Given the description of an element on the screen output the (x, y) to click on. 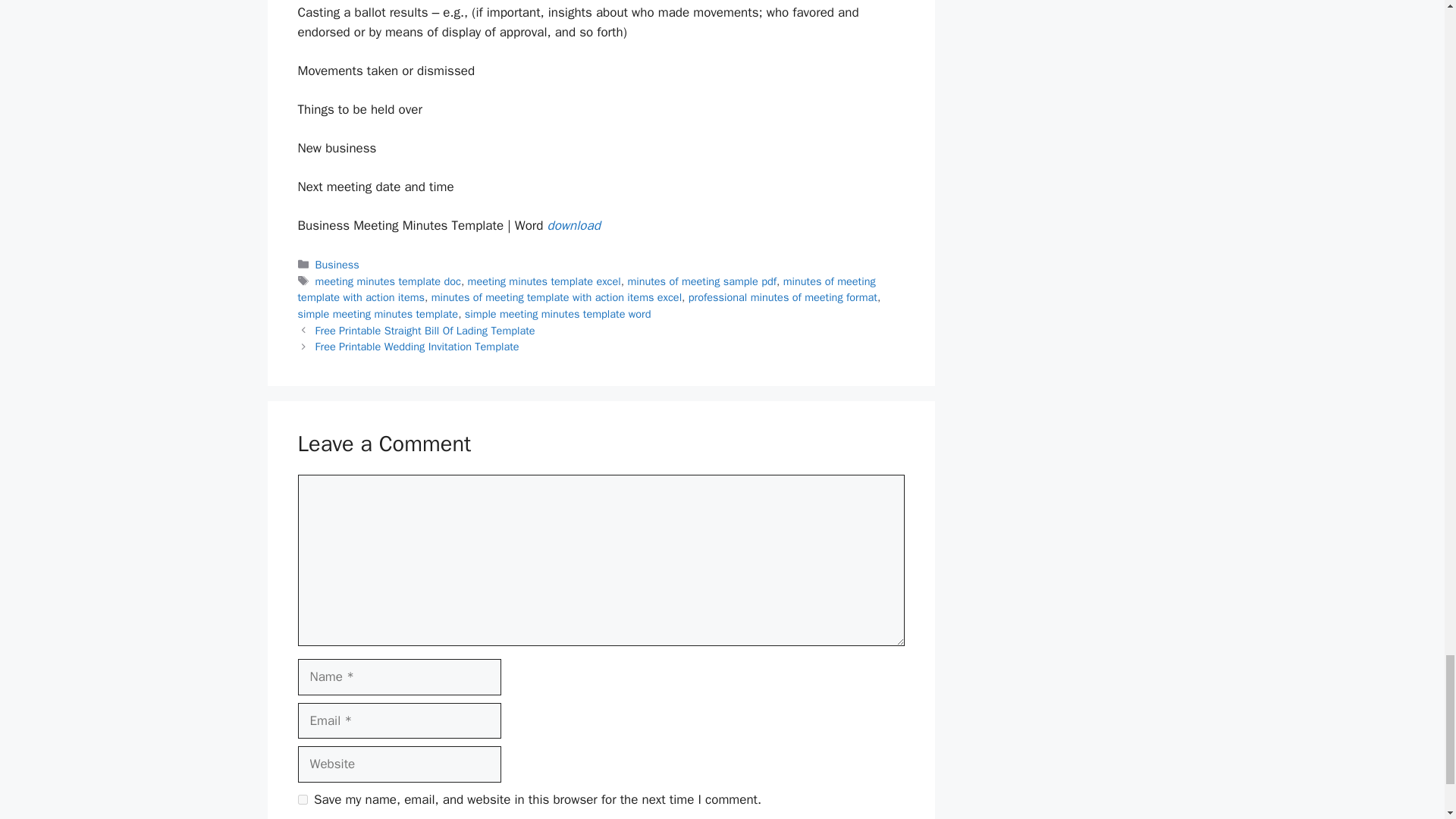
Free Printable Straight Bill Of Lading Template (425, 330)
minutes of meeting sample pdf (701, 281)
download (573, 225)
simple meeting minutes template (377, 314)
Free Printable Wedding Invitation Template (417, 345)
meeting minutes template doc (388, 281)
meeting minutes template excel (544, 281)
minutes of meeting template with action items (586, 289)
yes (302, 799)
simple meeting minutes template word (557, 314)
